Given the description of an element on the screen output the (x, y) to click on. 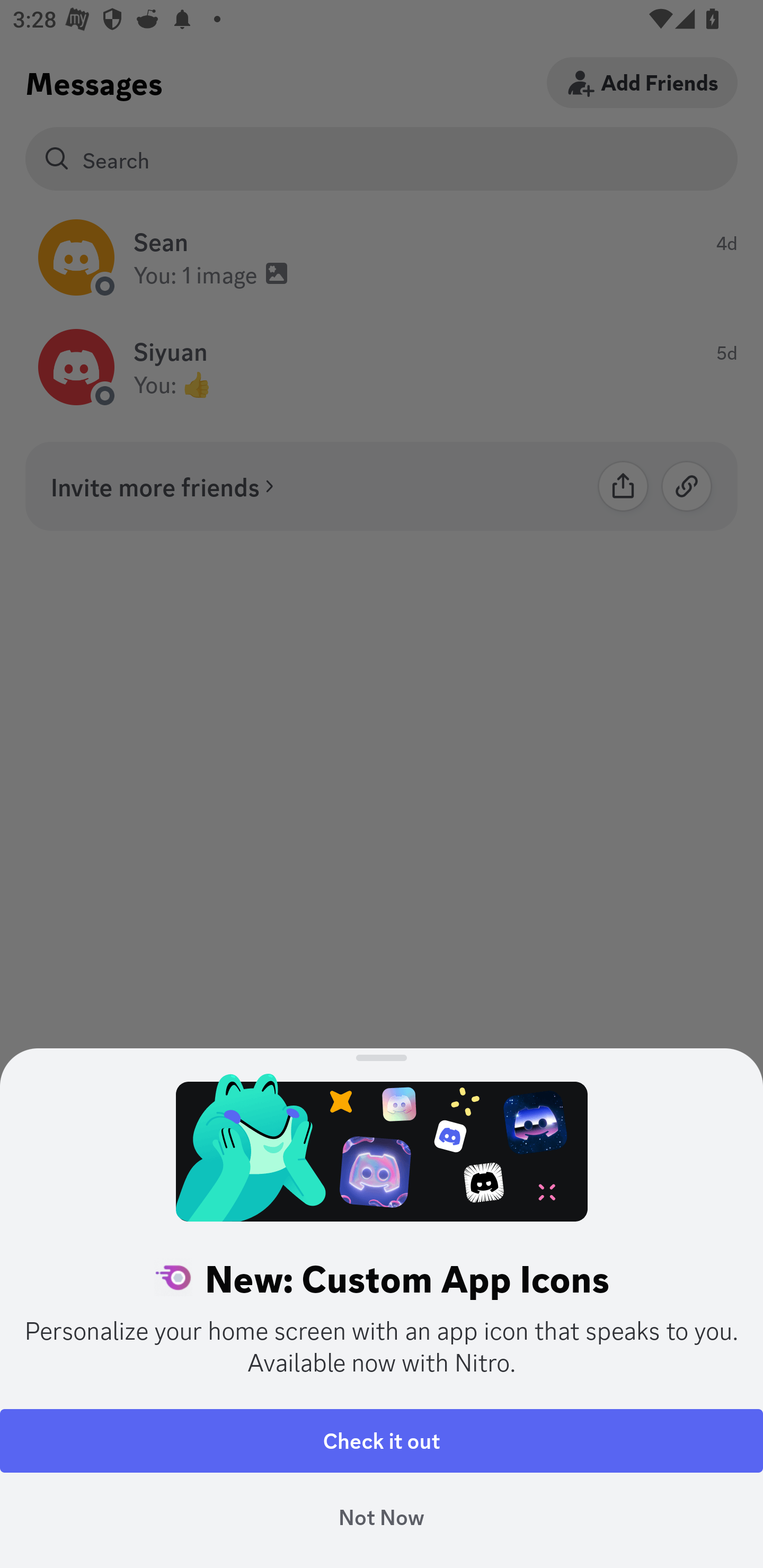
Check it out (381, 1440)
Not Now (381, 1516)
